Given the description of an element on the screen output the (x, y) to click on. 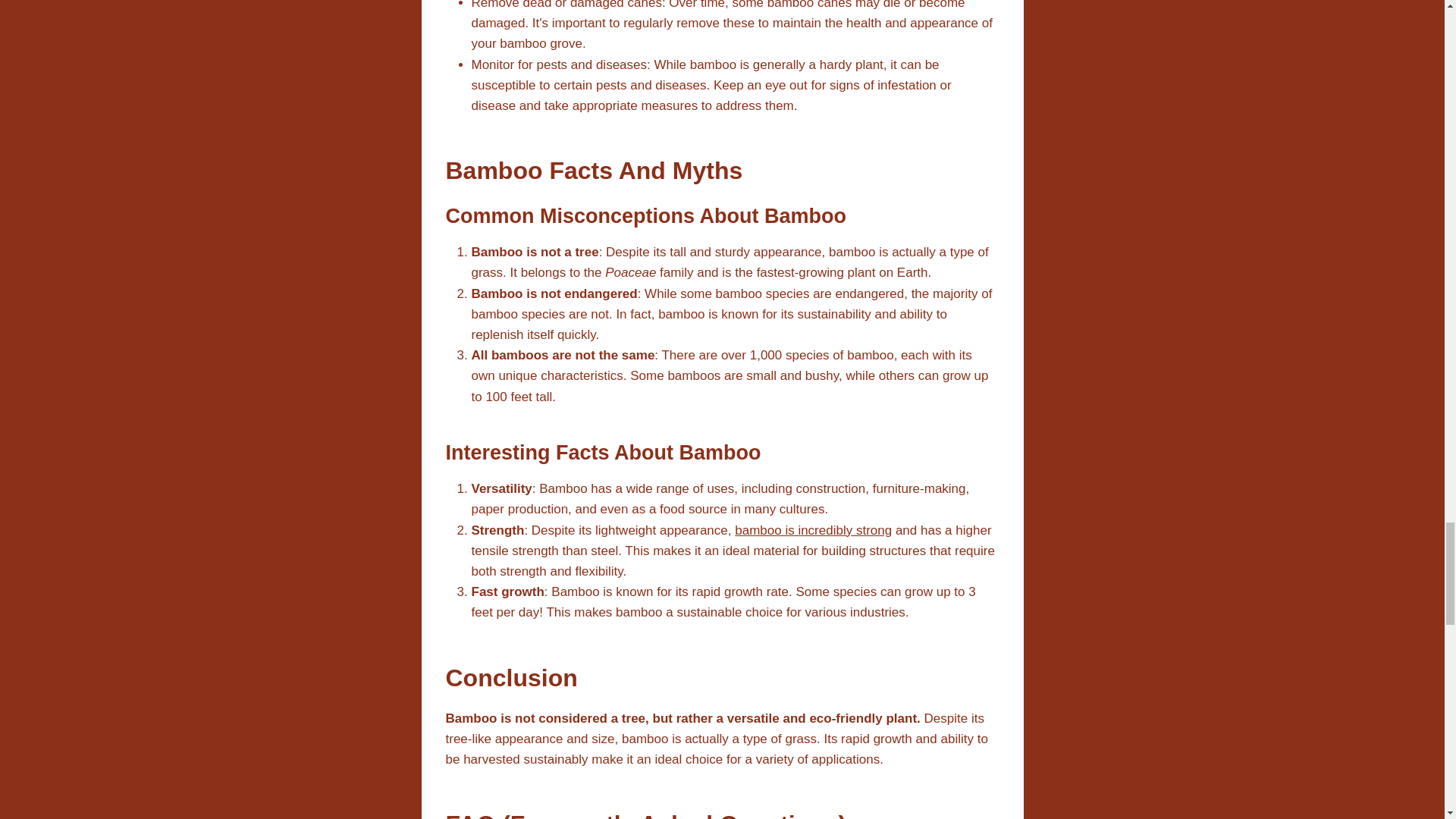
bamboo is incredibly strong (813, 530)
